Given the description of an element on the screen output the (x, y) to click on. 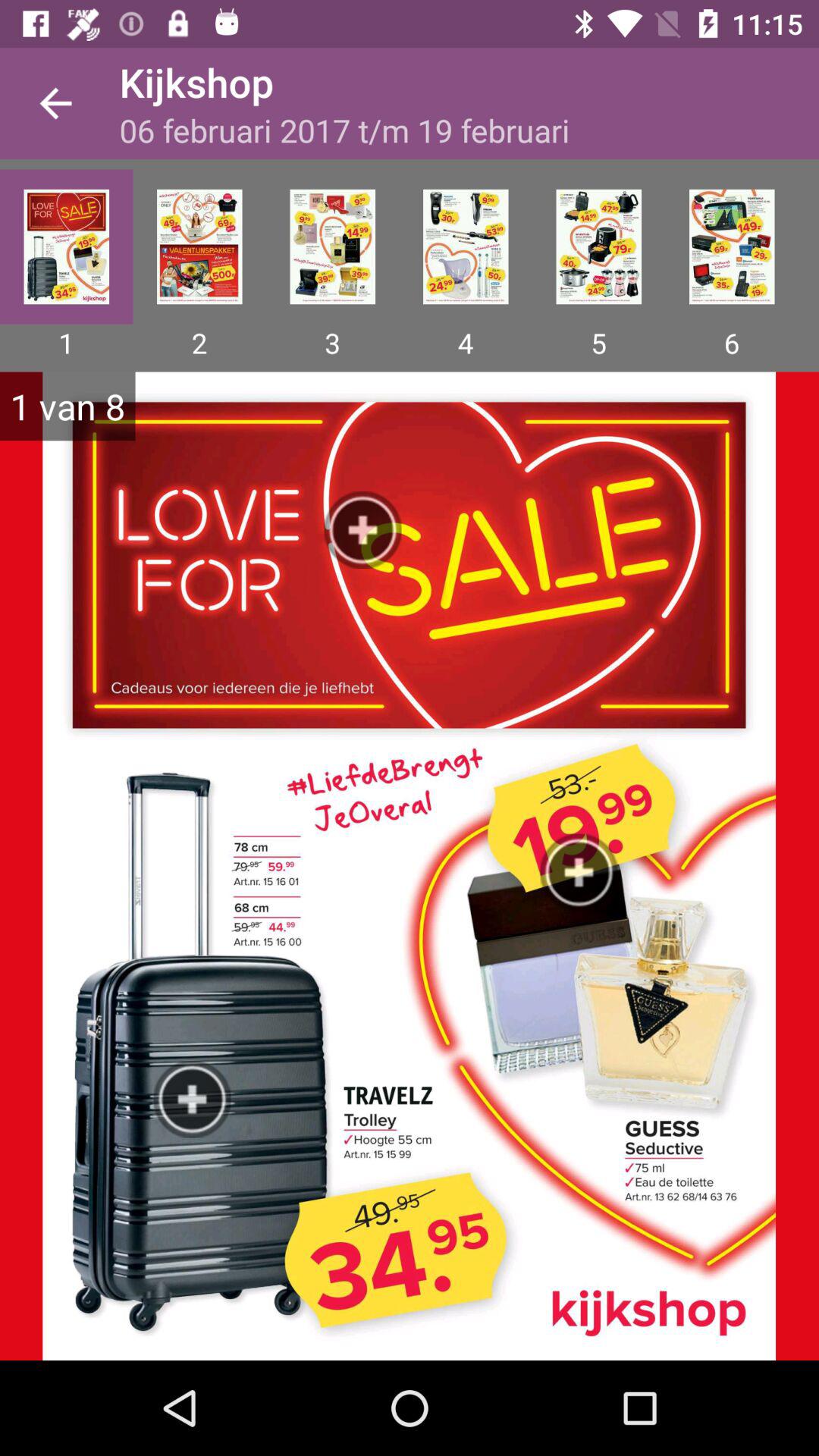
open app below 06 februari 2017 icon (598, 246)
